Given the description of an element on the screen output the (x, y) to click on. 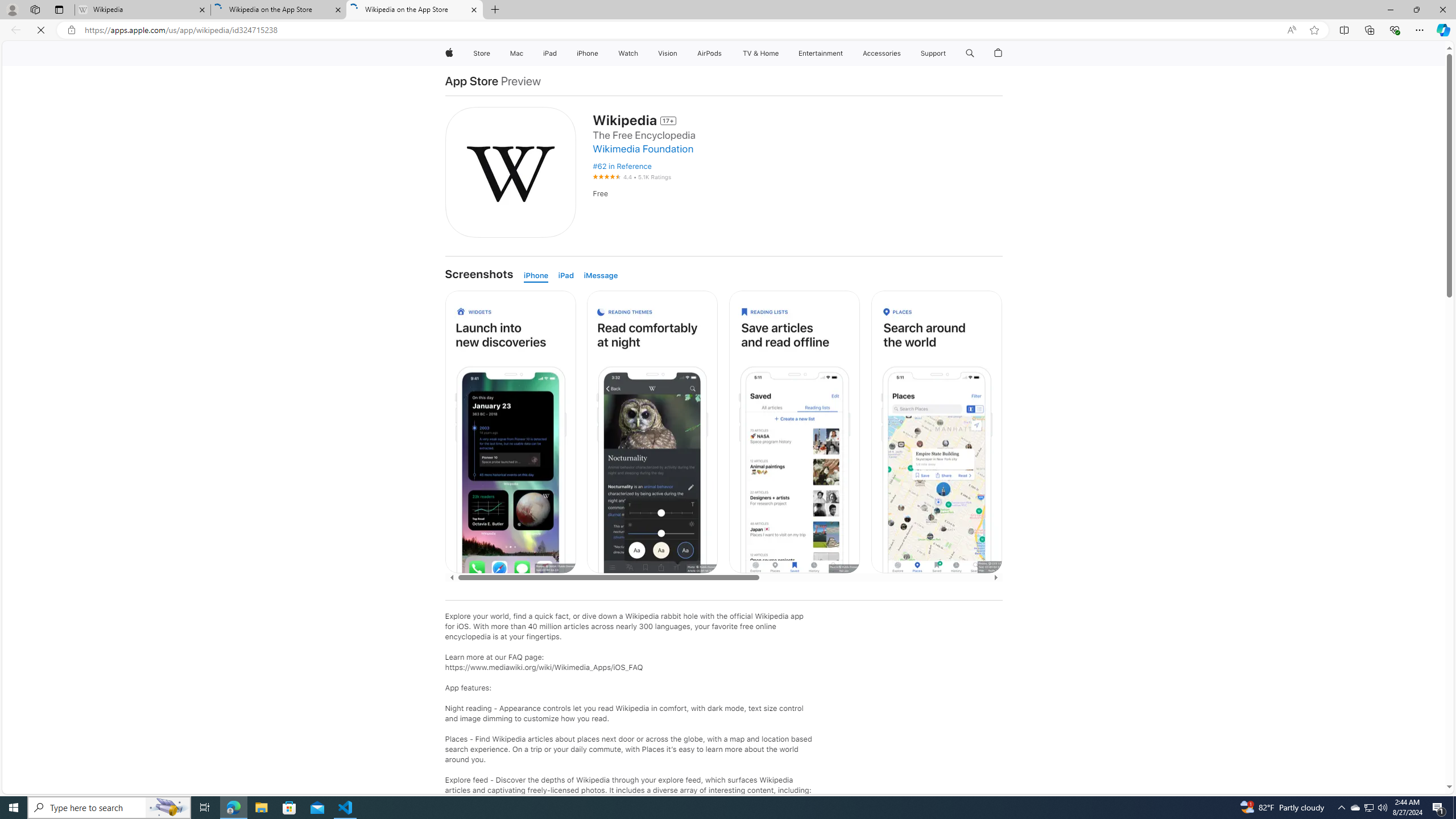
Wikimedia Foundation (646, 148)
iMessage (603, 275)
iMessage (603, 275)
Accessories (881, 53)
Store (481, 53)
